Given the description of an element on the screen output the (x, y) to click on. 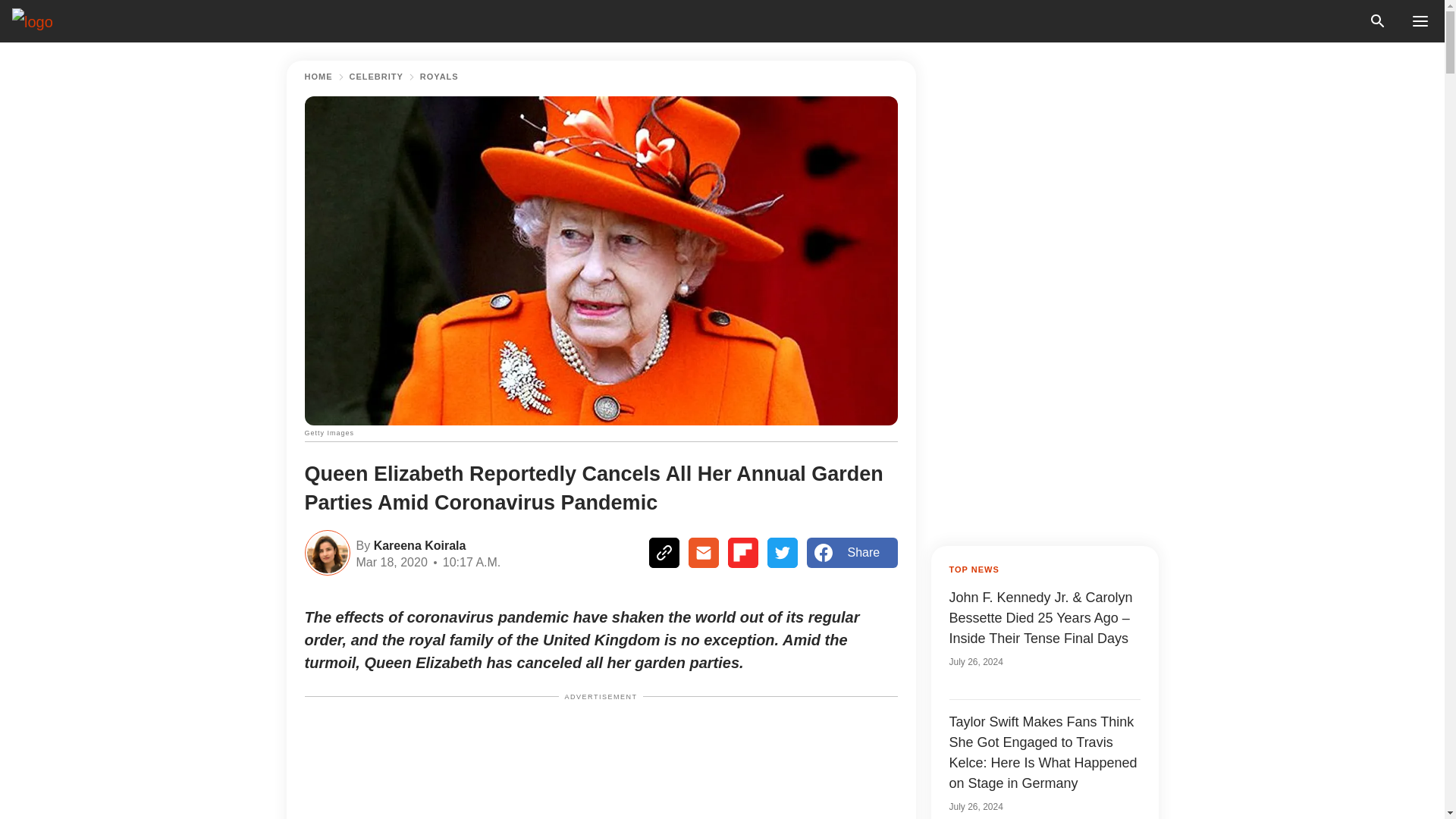
Kareena Koirala (417, 544)
HOME (318, 76)
ROYALS (439, 76)
CELEBRITY (376, 76)
